Given the description of an element on the screen output the (x, y) to click on. 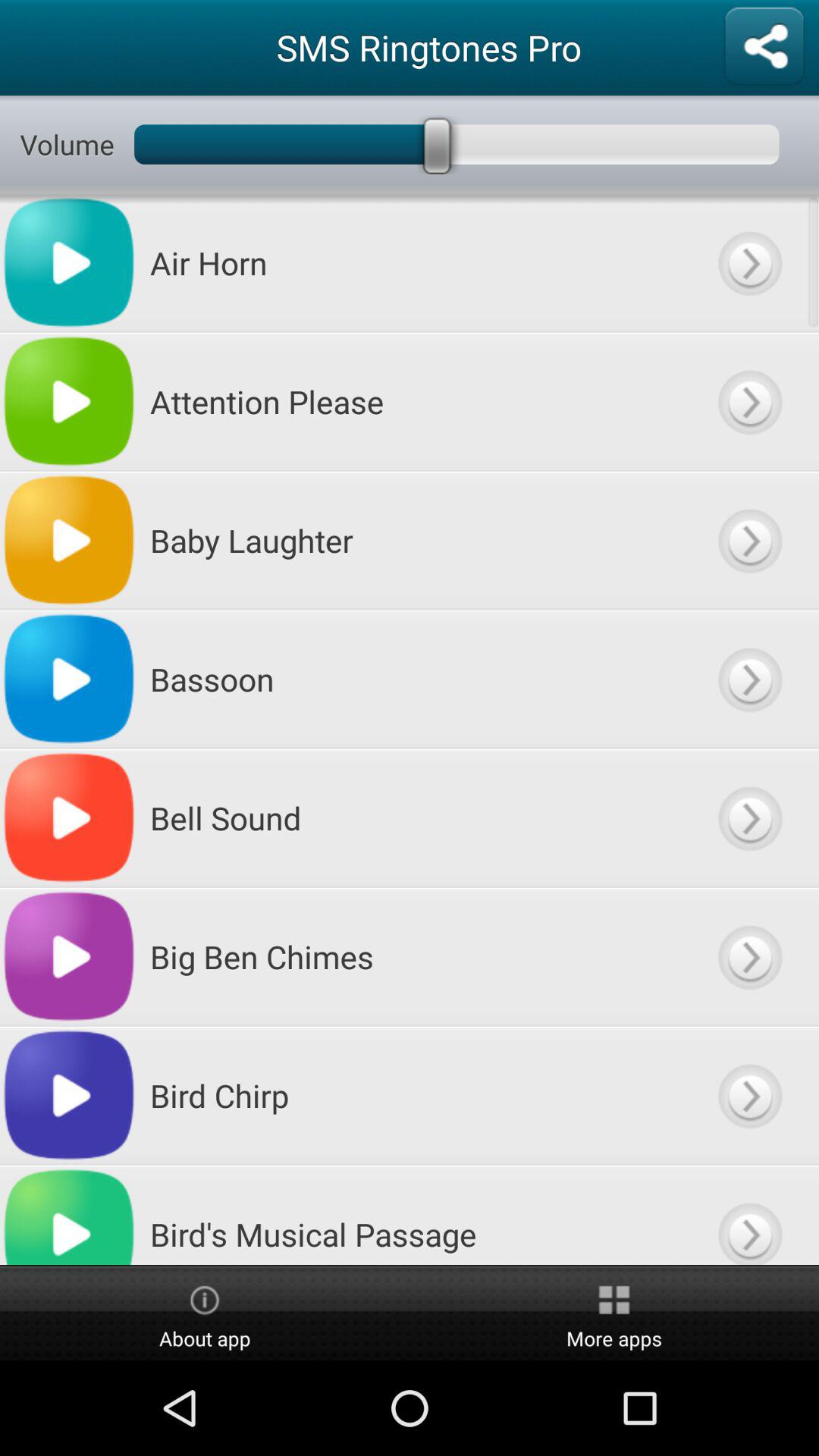
go to next (749, 262)
